Given the description of an element on the screen output the (x, y) to click on. 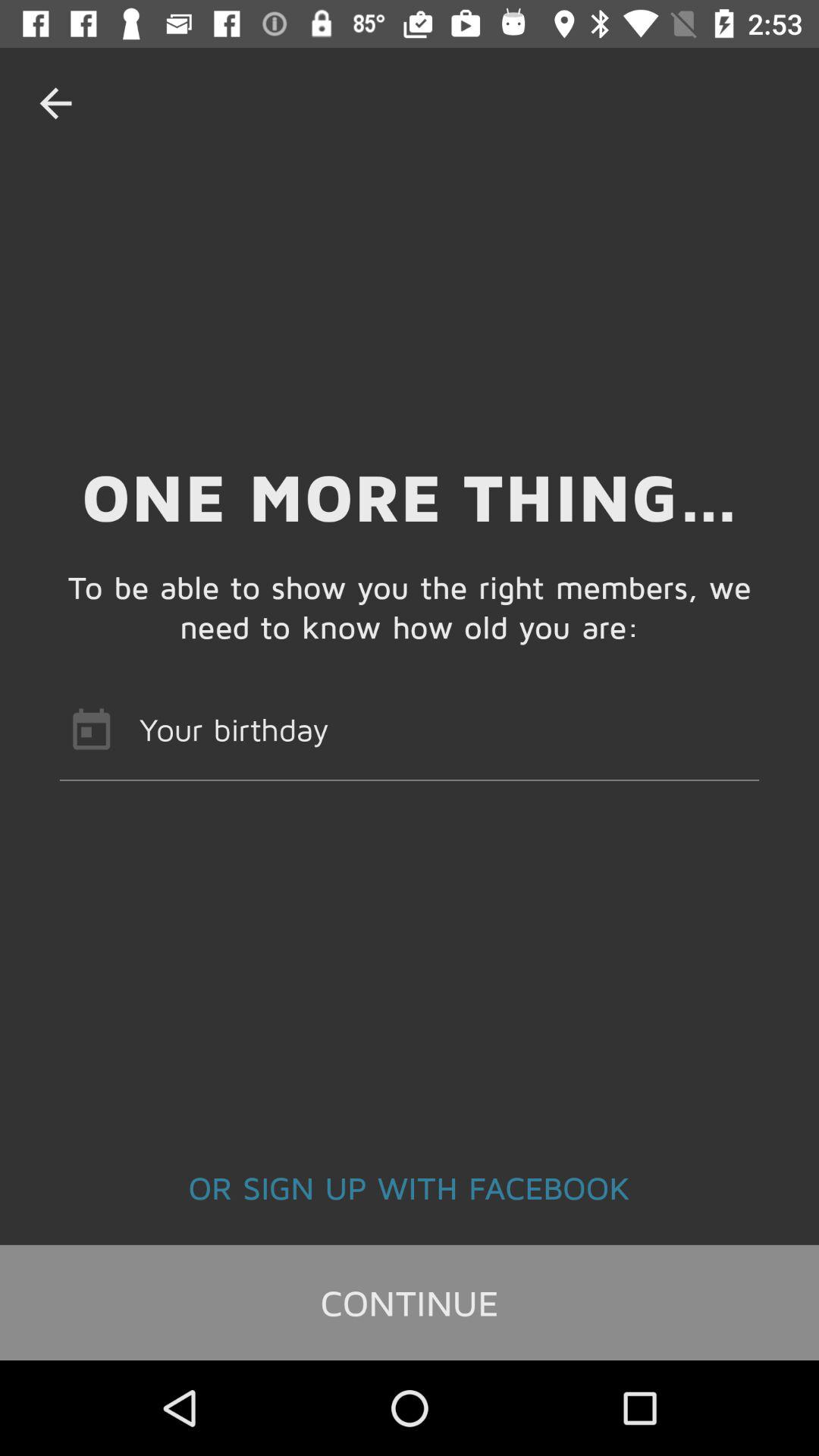
turn on the continue (409, 1302)
